Given the description of an element on the screen output the (x, y) to click on. 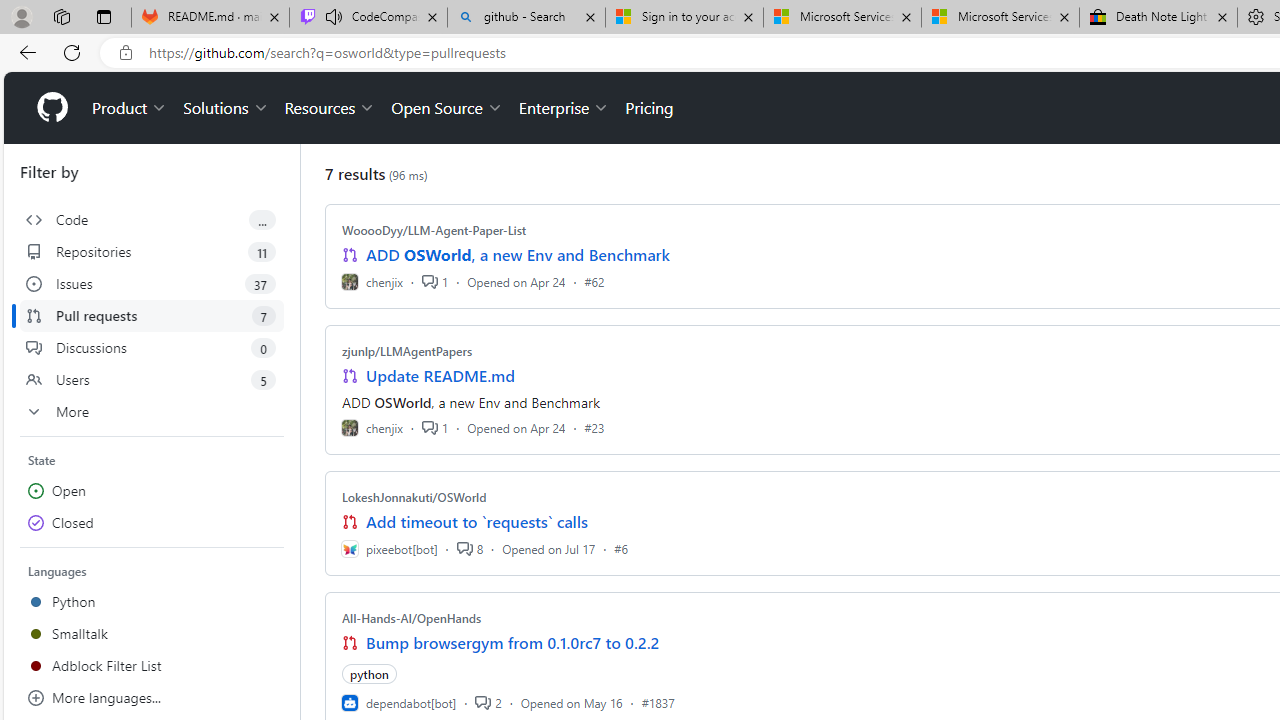
#62 (594, 281)
Add timeout to `requests` calls (476, 521)
#23 (594, 427)
Pricing (649, 107)
All-Hands-AI/OpenHands (411, 618)
1 (435, 427)
#23 (594, 427)
More languages... (152, 697)
